Given the description of an element on the screen output the (x, y) to click on. 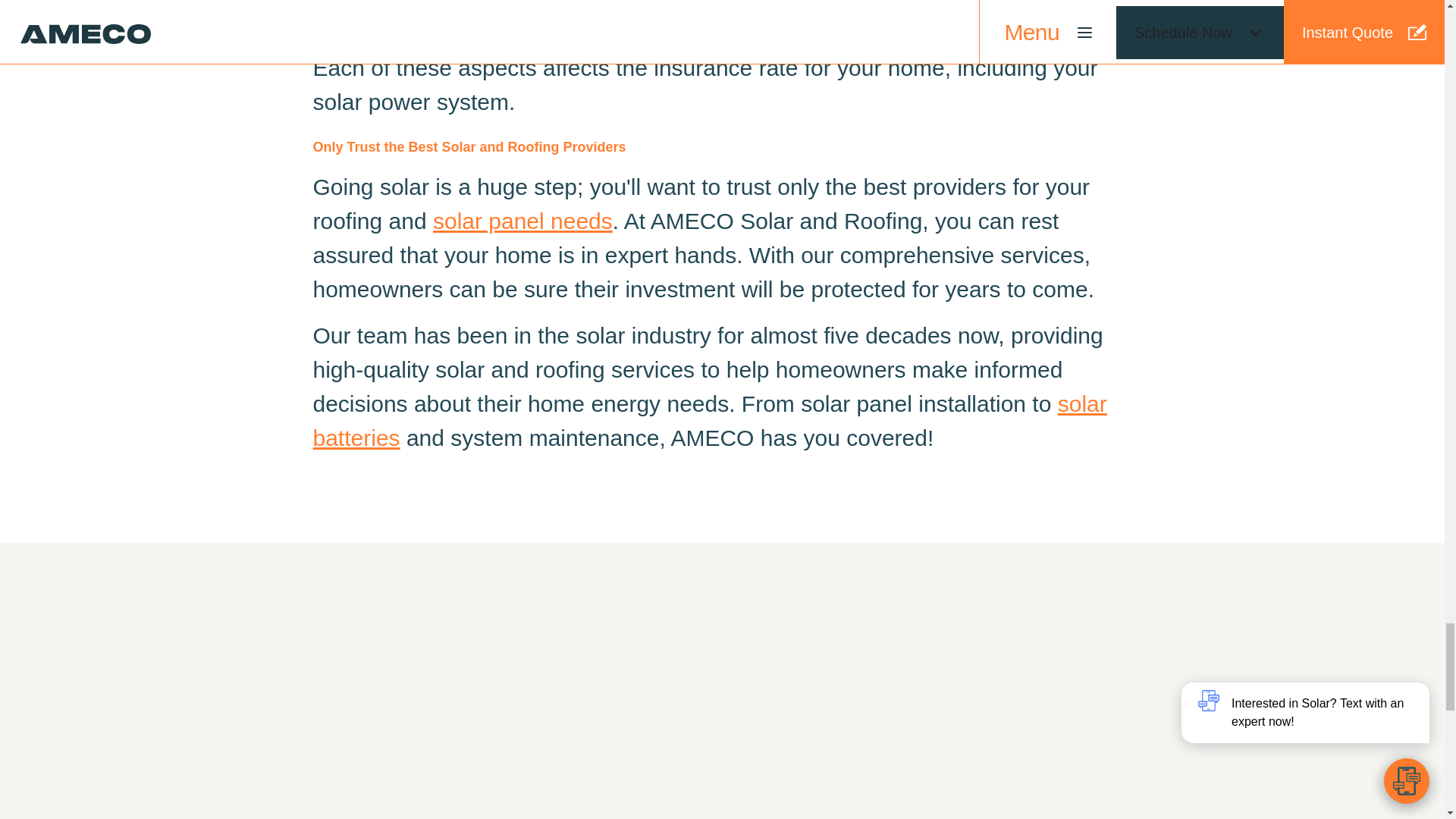
solar panel needs (522, 220)
solar batteries (709, 420)
